Given the description of an element on the screen output the (x, y) to click on. 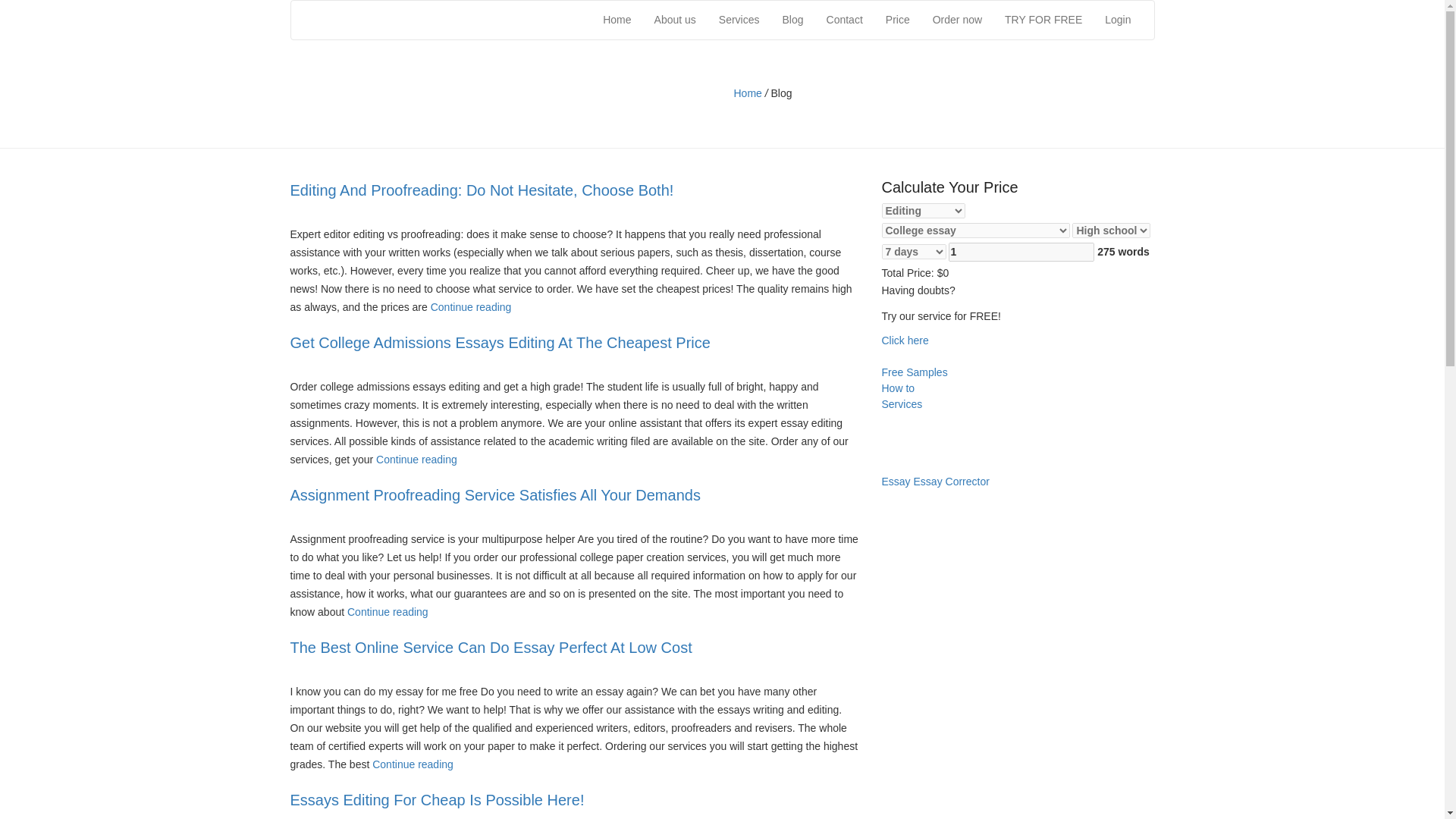
Home (747, 92)
Editing And Proofreading: Do Not Hesitate, Choose Both! (480, 190)
Get College Admissions Essays Editing At The Cheapest Price (499, 342)
Continue reading (387, 612)
Continue reading (416, 459)
Assignment Proofreading Service Satisfies All Your Demands (387, 612)
1 (1021, 251)
Price (898, 19)
Login (1117, 19)
Order now (956, 19)
